Given the description of an element on the screen output the (x, y) to click on. 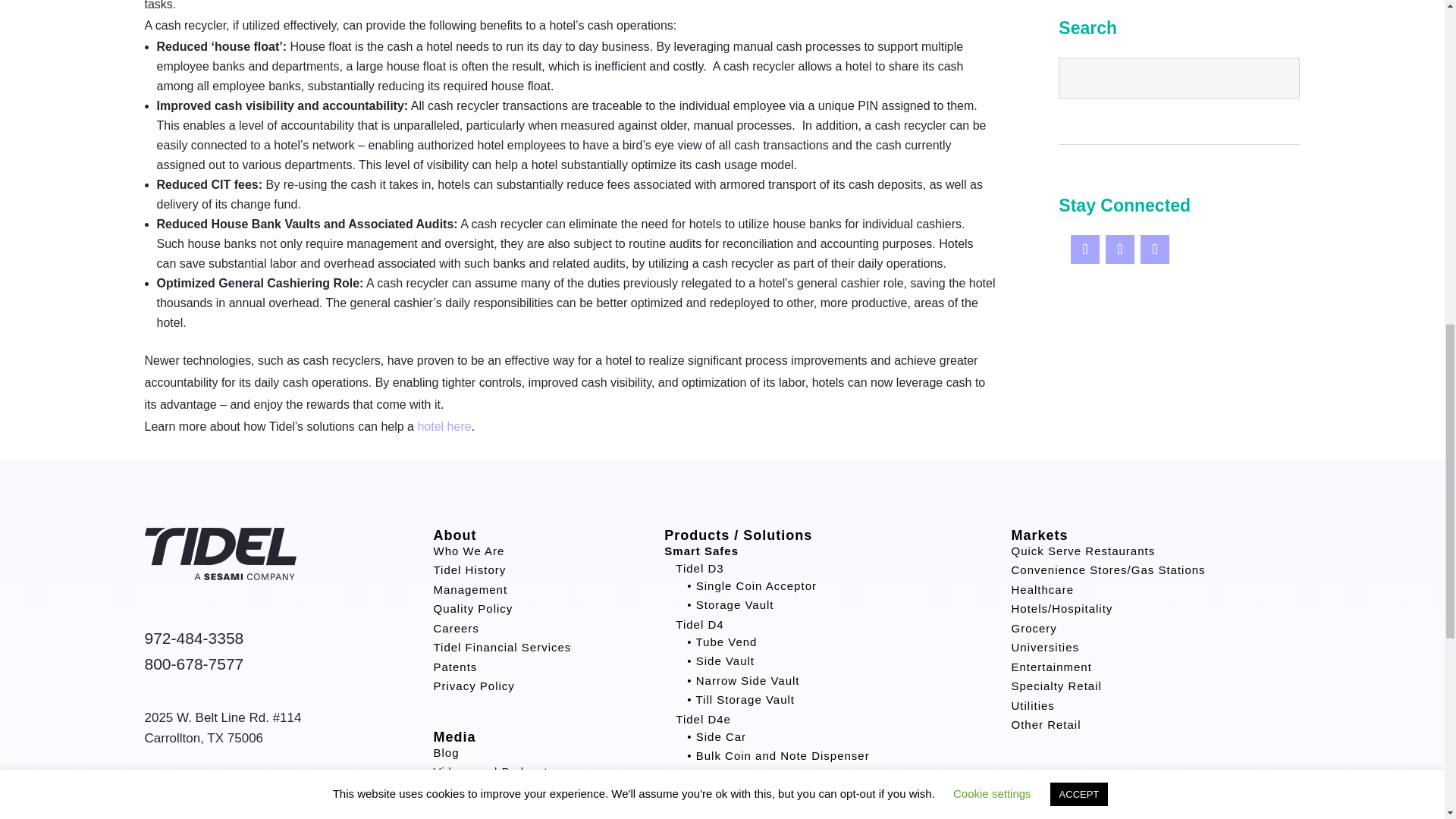
Follow on Instagram (1119, 249)
Follow on X (1084, 249)
grd011-tidel-logo-web-03-220220 (219, 575)
Follow on LinkedIn (1154, 249)
